Given the description of an element on the screen output the (x, y) to click on. 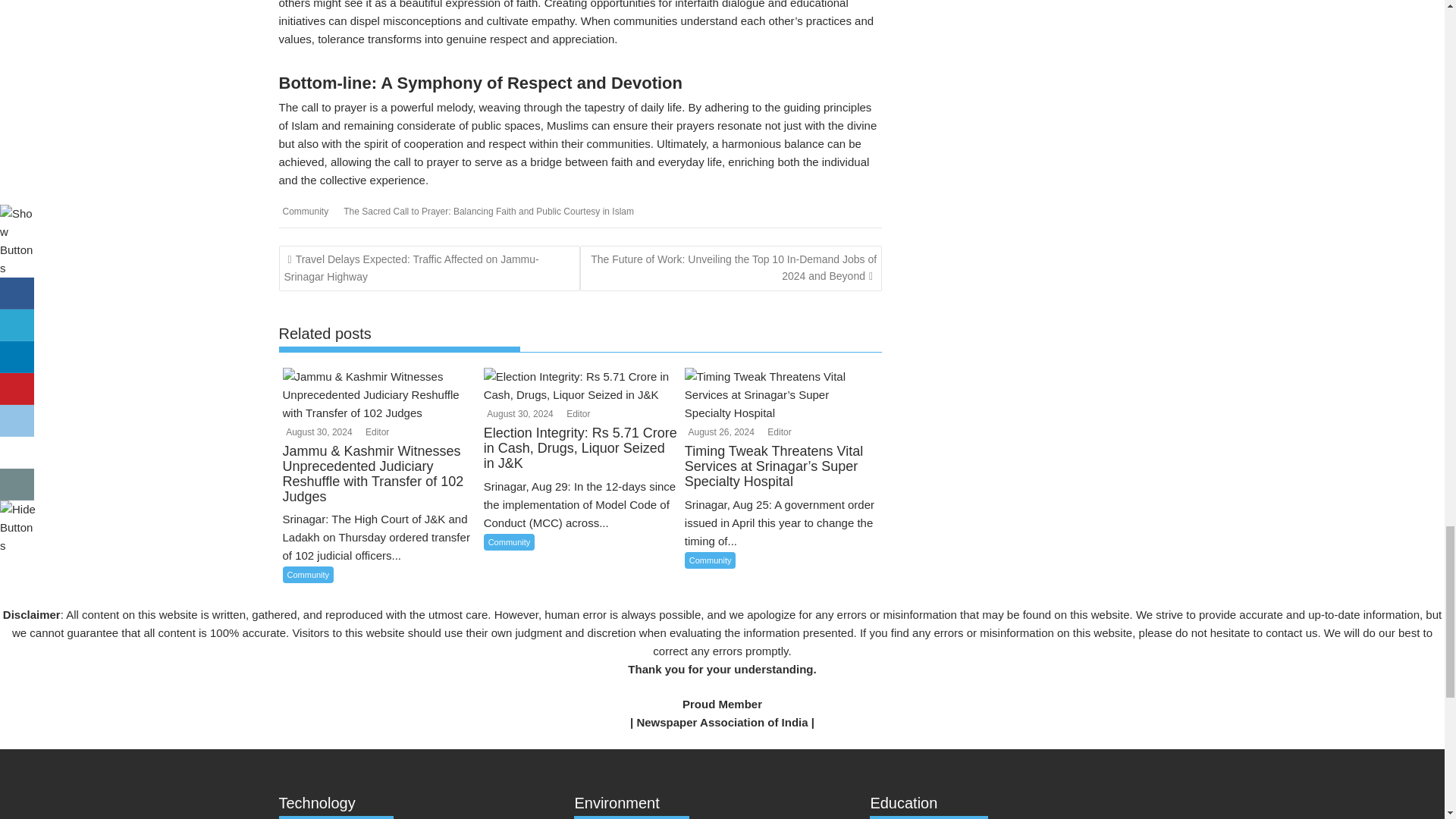
Editor (777, 431)
Editor (576, 413)
Editor (375, 431)
